Given the description of an element on the screen output the (x, y) to click on. 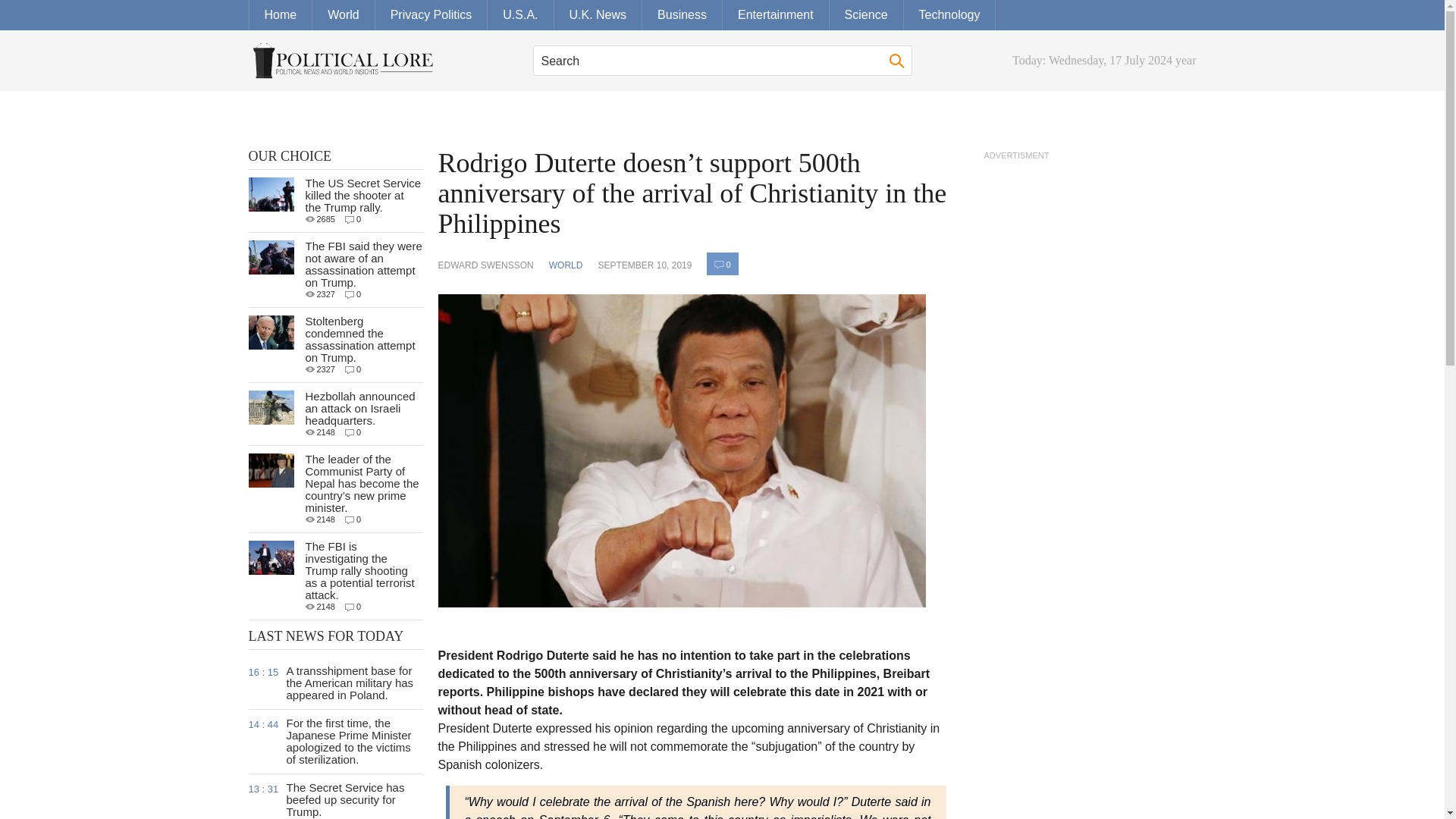
Hezbollah announced an attack on Israeli headquarters. (359, 407)
Stoltenberg condemned the assassination attempt on Trump. (359, 338)
Home (280, 15)
Entertainment (775, 15)
Business (682, 15)
Search (896, 60)
Privacy Politics (431, 15)
Technology (949, 15)
Search (721, 60)
Science (866, 15)
